Given the description of an element on the screen output the (x, y) to click on. 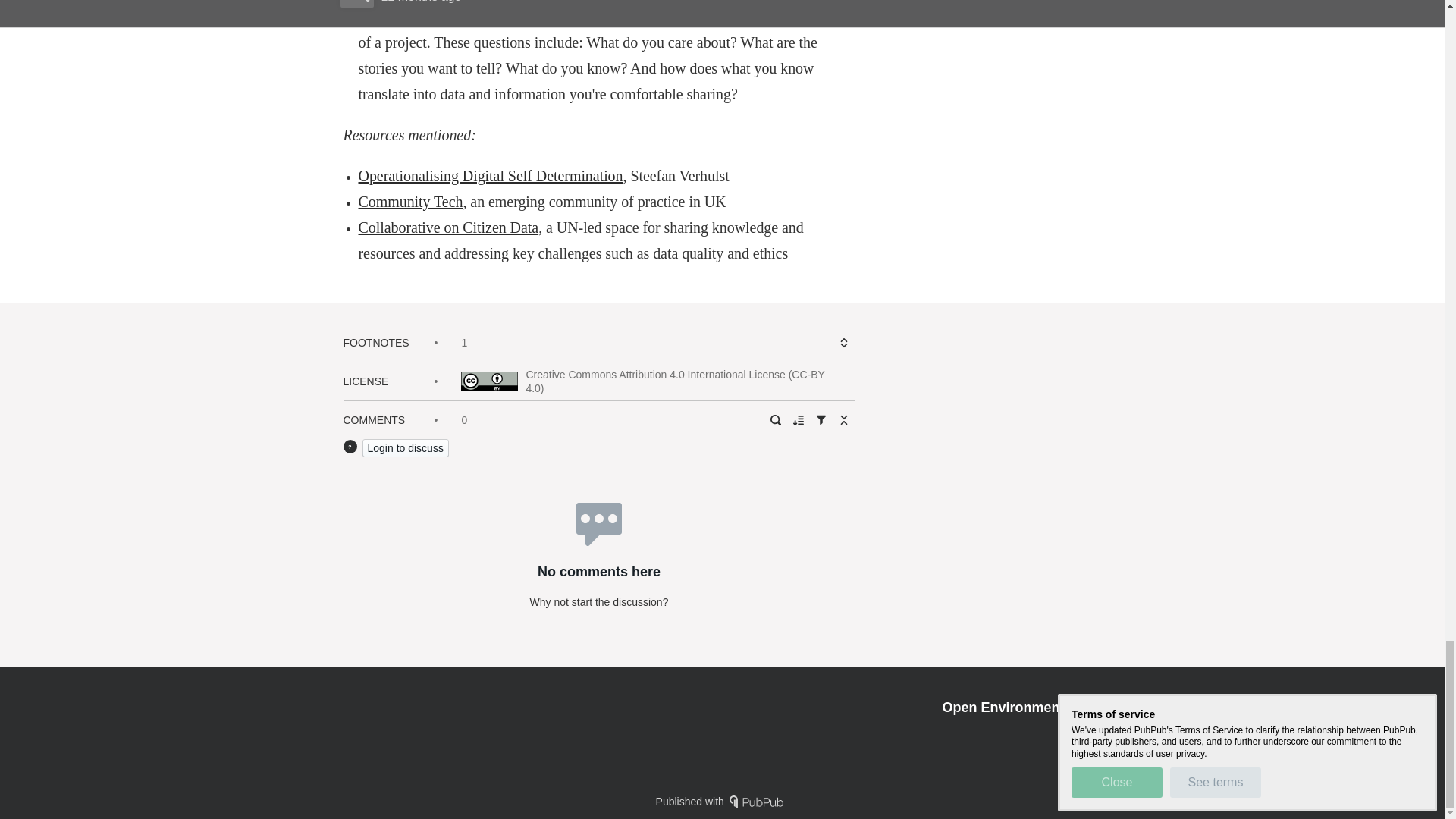
Collaborative on Citizen Data (448, 227)
Legal (1145, 734)
Login to discuss (405, 447)
RSS (1104, 734)
Community Tech (410, 201)
Open Environmental Data Project (1050, 707)
Published with (722, 801)
Operationalising Digital Self Determination (490, 175)
